Given the description of an element on the screen output the (x, y) to click on. 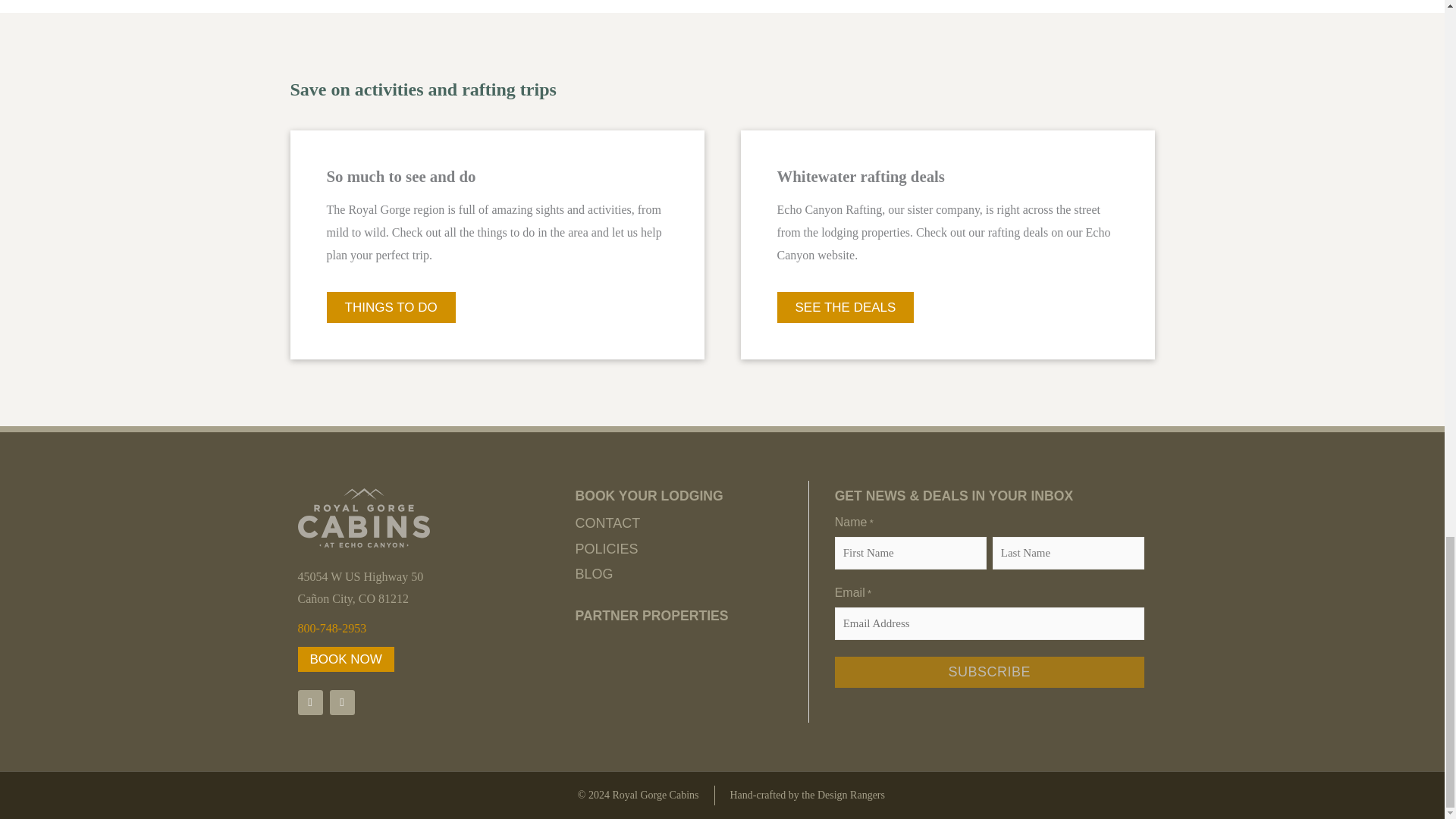
Subscribe (989, 671)
